Given the description of an element on the screen output the (x, y) to click on. 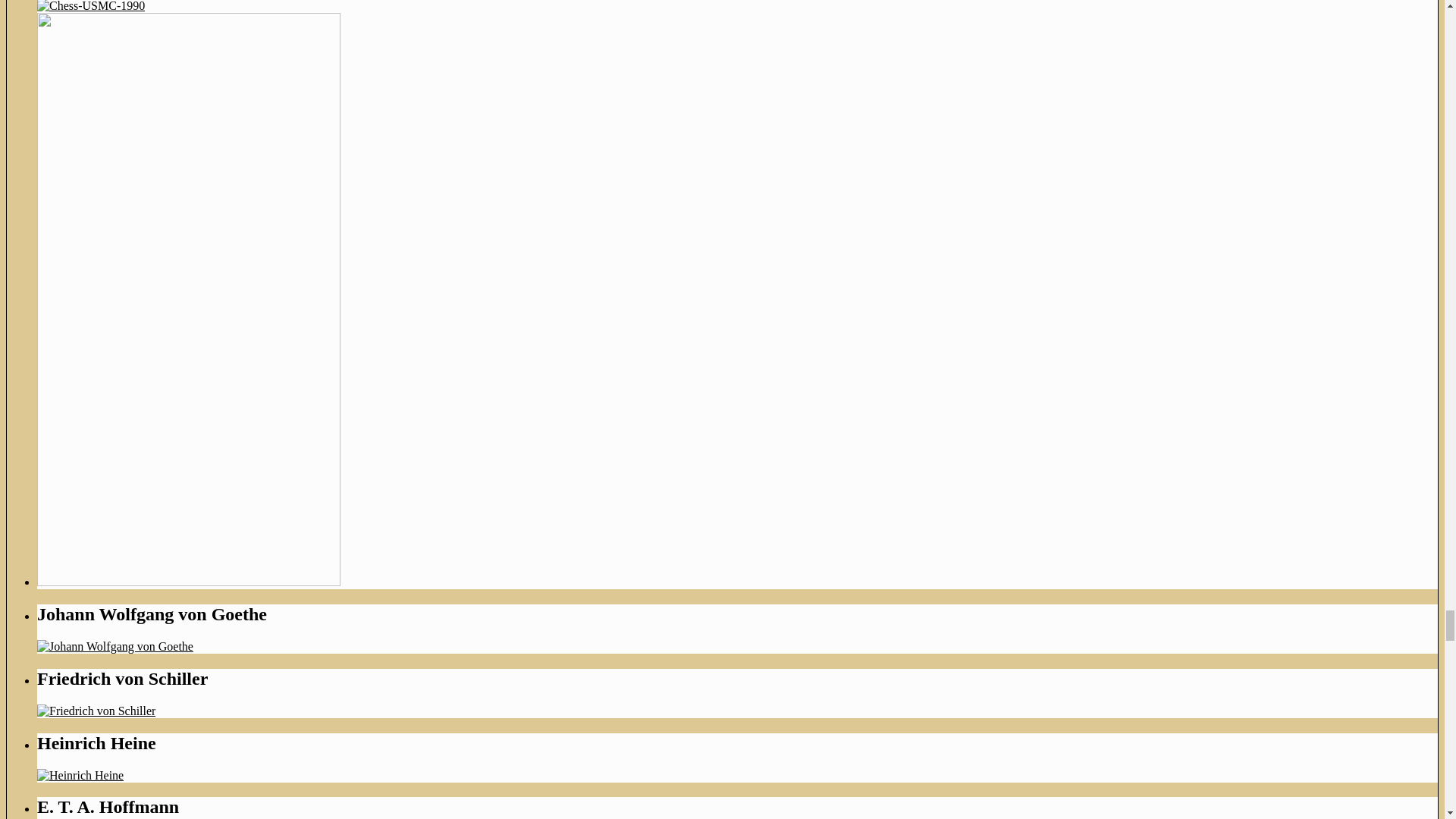
Heinrich Heine (80, 775)
Chess-USMC-1990 (90, 6)
Johann Wolfgang von Goethe (115, 645)
Friedrich von Schiller  (96, 710)
